Given the description of an element on the screen output the (x, y) to click on. 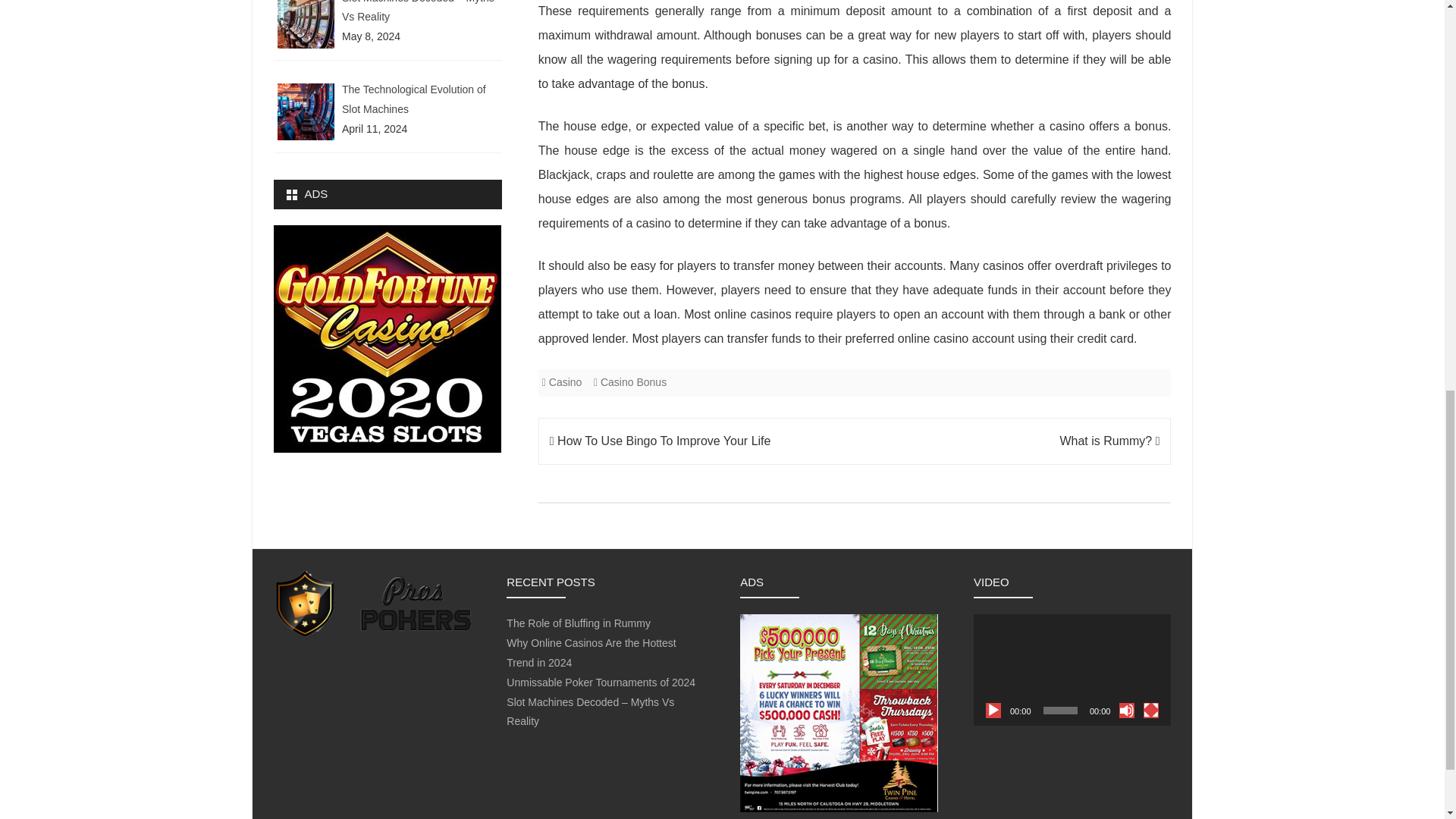
Unmissable Poker Tournaments of 2024 (600, 682)
Mute (1126, 710)
How To Use Bingo To Improve Your Life (660, 440)
Casino (565, 381)
The Role of Bluffing in Rummy (578, 623)
Casino Bonus (632, 381)
Fullscreen (1150, 710)
Play (993, 710)
The Technological Evolution of Slot Machines (414, 99)
Why Online Casinos Are the Hottest Trend in 2024 (590, 653)
